Given the description of an element on the screen output the (x, y) to click on. 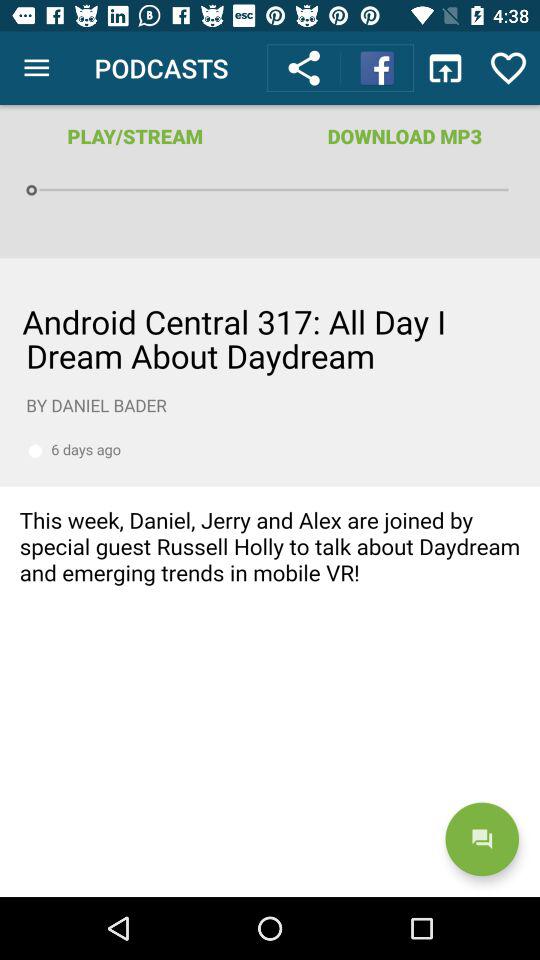
browse this podcast episode (270, 577)
